Given the description of an element on the screen output the (x, y) to click on. 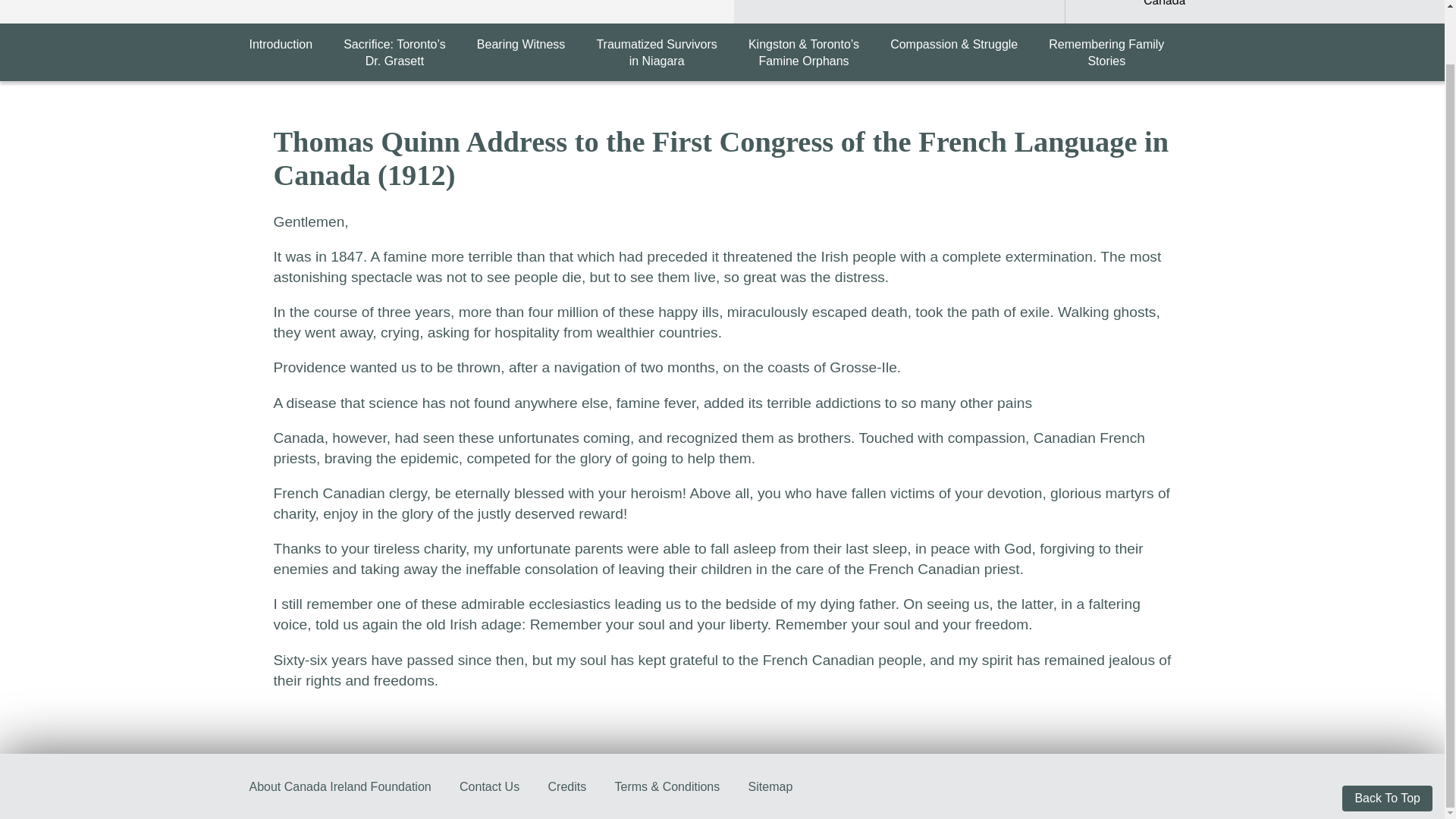
Sitemap (770, 786)
Traumatized Survivors in Niagara (655, 52)
Credits (567, 786)
Link to Digital Museums Canada (655, 52)
Introduction (1105, 52)
About Canada Ireland Foundation (1142, 4)
Bearing Witness (280, 43)
Contact Us (339, 786)
Credits (521, 43)
Contact Us (489, 786)
Sitemap (567, 786)
Back To Top (489, 786)
Irish Famine Migrant Stories in Ontario (770, 786)
